Given the description of an element on the screen output the (x, y) to click on. 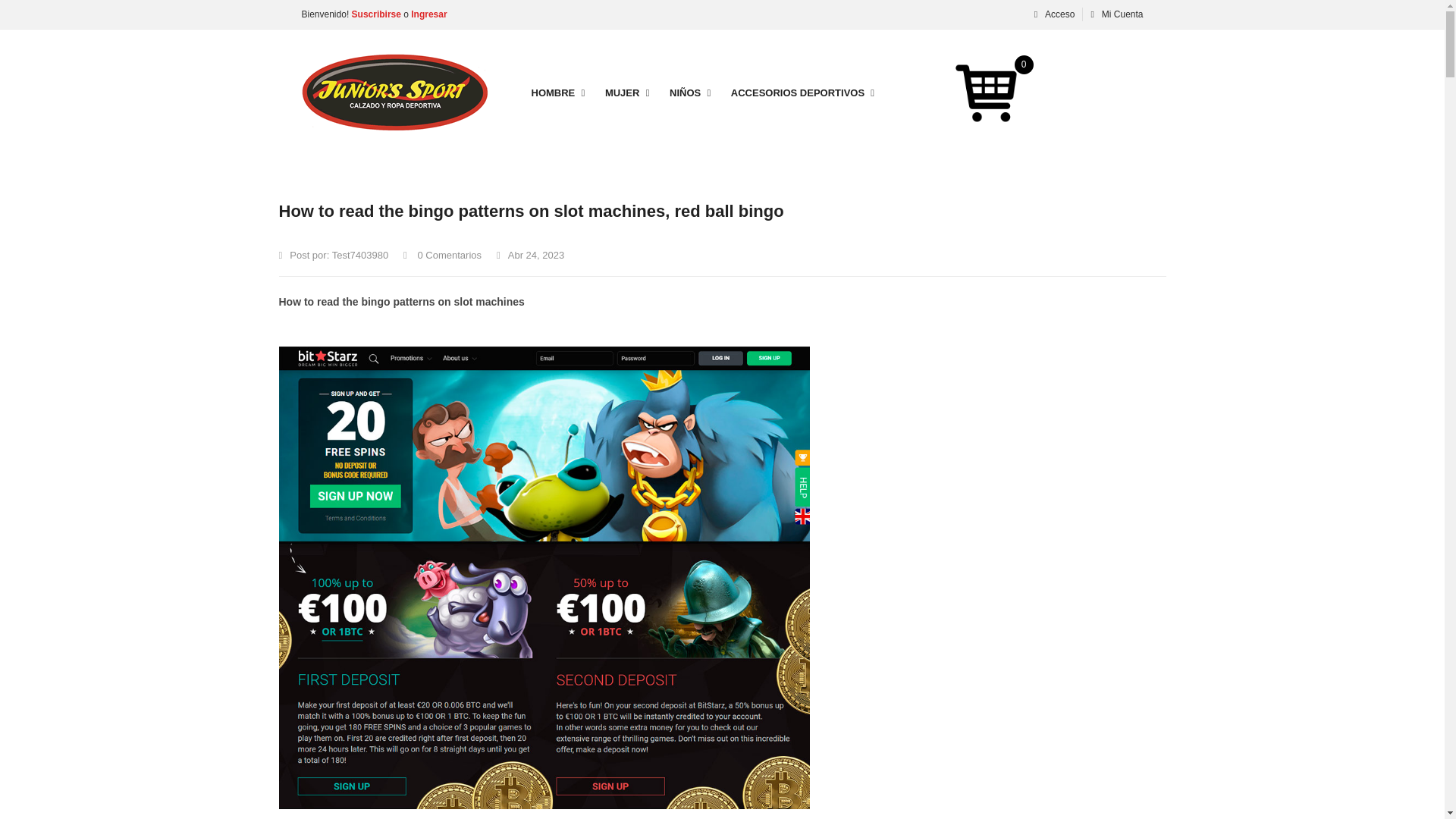
0 Comentarios (442, 255)
0 (987, 92)
Ingresar (428, 14)
MUJER (622, 92)
ACCESORIOS DEPORTIVOS (797, 92)
HOMBRE (552, 92)
Suscribirse (375, 14)
Entradas de test7403980 (359, 255)
Acceso (1053, 14)
How to read the bingo patterns on slot machines (401, 301)
Test7403980 (359, 255)
